Given the description of an element on the screen output the (x, y) to click on. 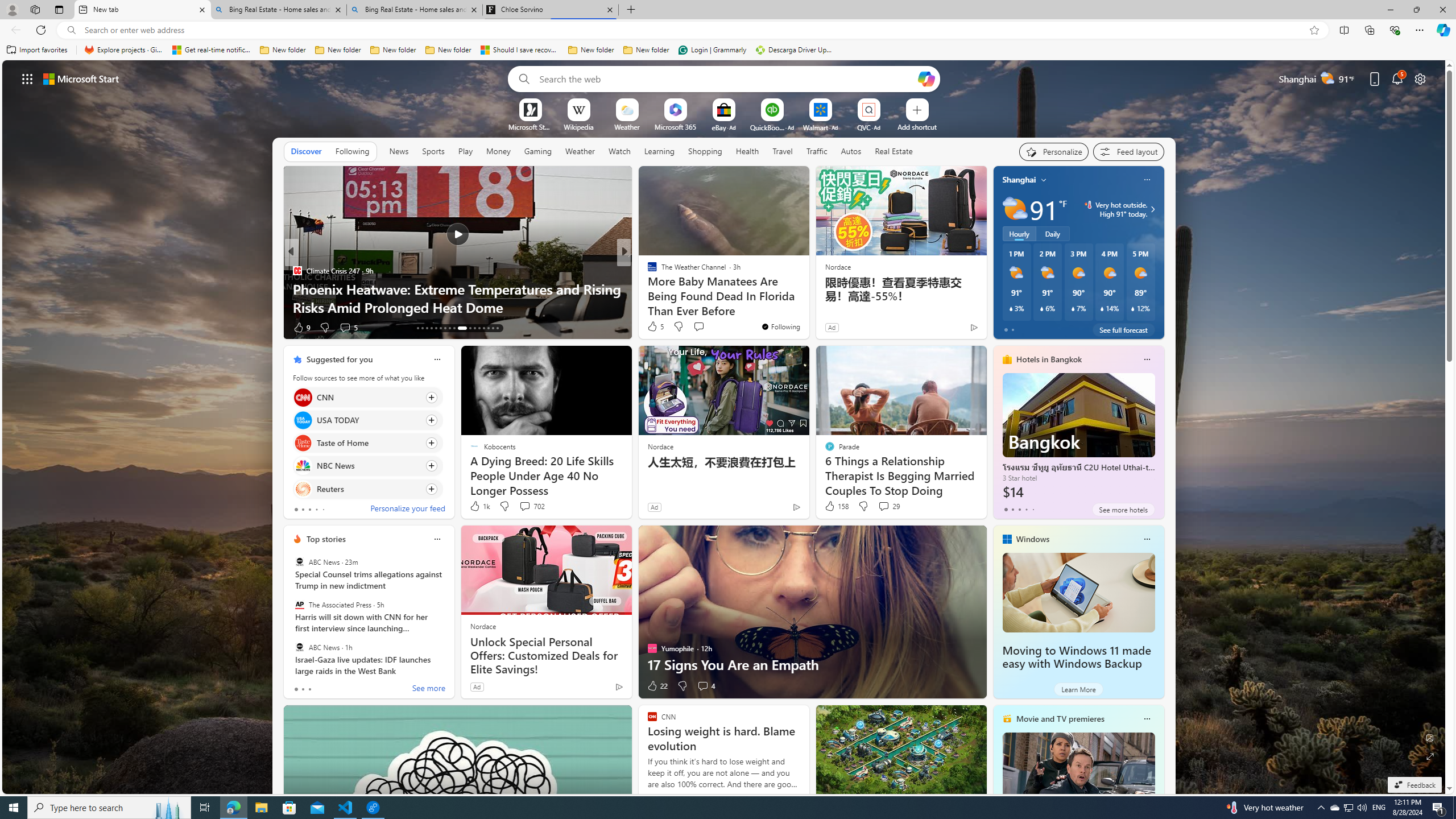
SlashGear (647, 270)
See full forecast (1123, 329)
Hide this story (597, 359)
Click to follow source Taste of Home (367, 442)
Taste of Home (302, 443)
Click to follow source NBC News (367, 465)
AutomationID: tab-15 (426, 328)
AutomationID: tab-24 (474, 328)
View comments 247 Comment (6, 327)
